Given the description of an element on the screen output the (x, y) to click on. 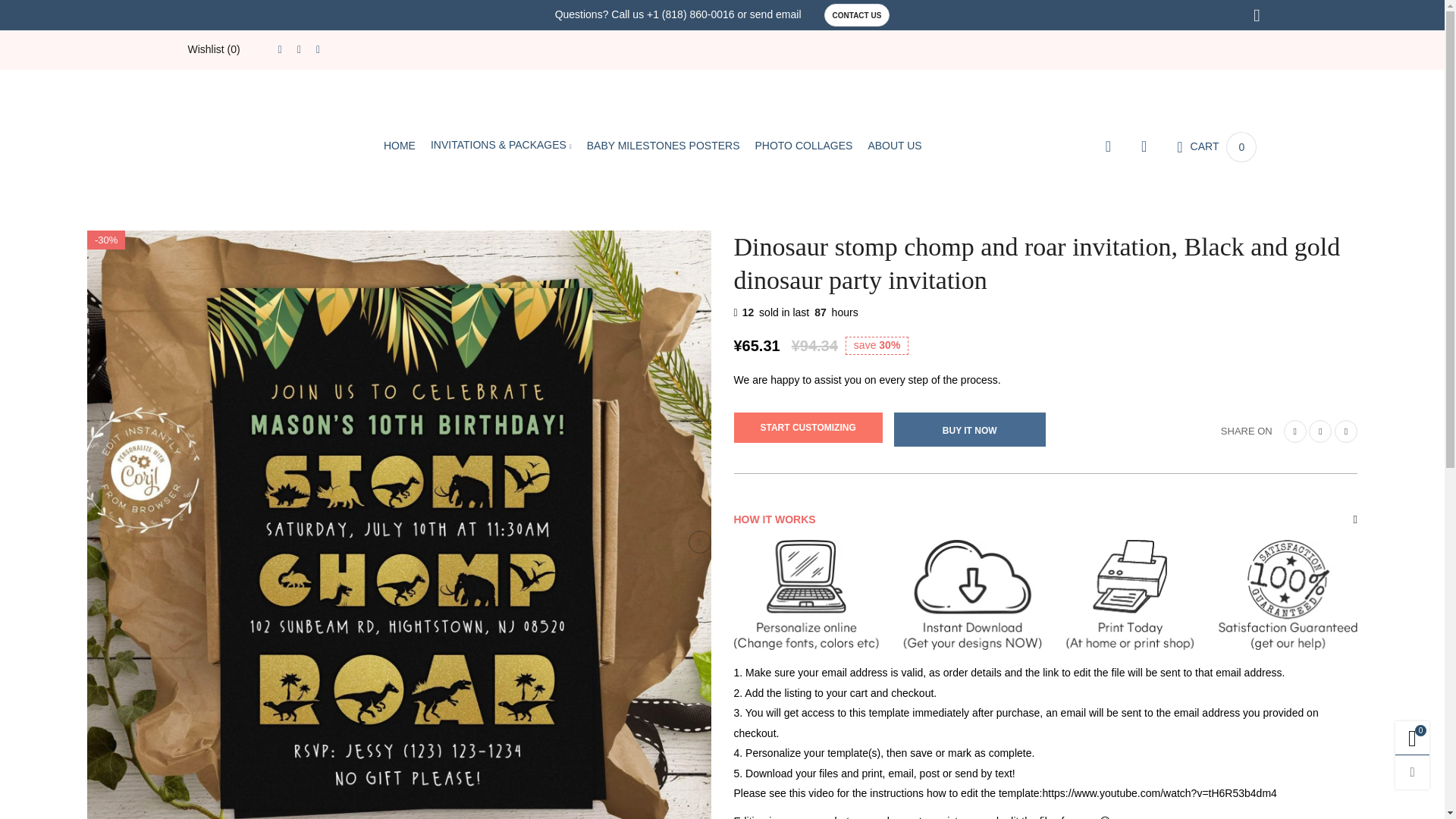
HOME (399, 146)
Sign In (1108, 380)
Home (399, 146)
CONTACT US (856, 15)
Wishlist (213, 49)
BABY MILESTONES POSTERS (662, 146)
PHOTO COLLAGES (802, 146)
partyrainbow (262, 144)
ABOUT US (894, 146)
